Given the description of an element on the screen output the (x, y) to click on. 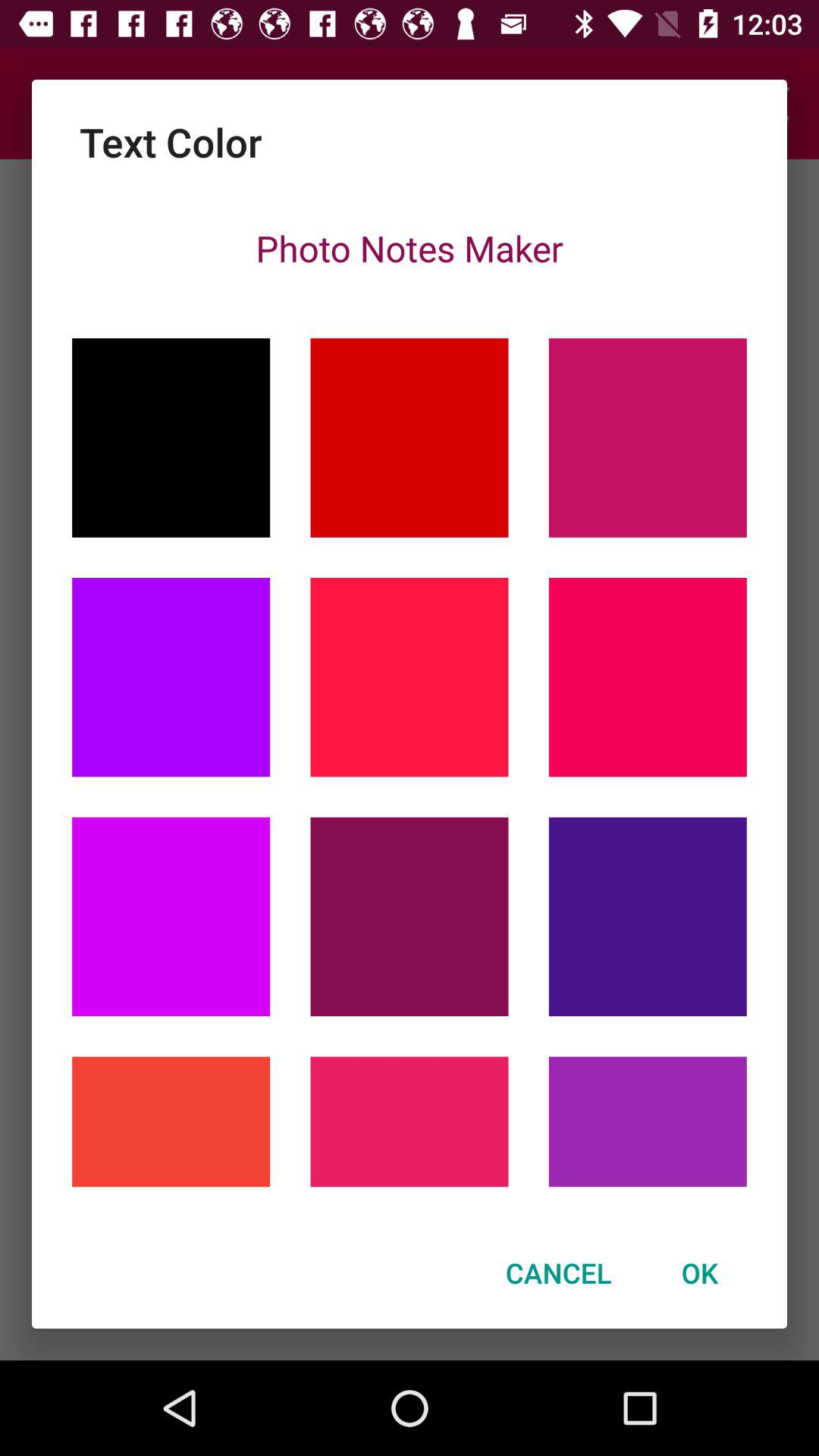
choose the ok item (699, 1272)
